Given the description of an element on the screen output the (x, y) to click on. 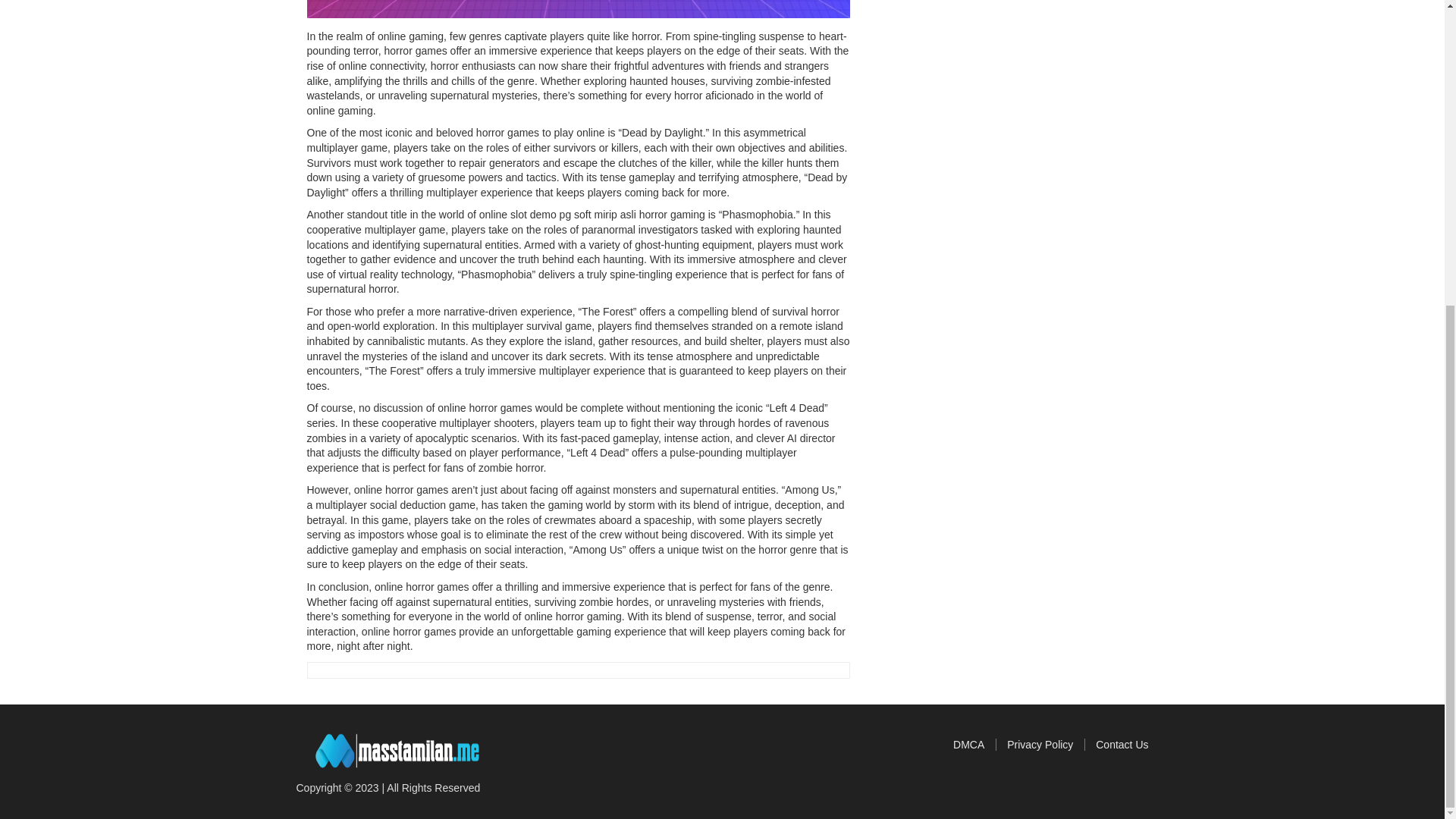
slot demo pg soft mirip asli (571, 214)
DMCA (974, 744)
Contact Us (1122, 744)
Privacy Policy (1045, 744)
